Given the description of an element on the screen output the (x, y) to click on. 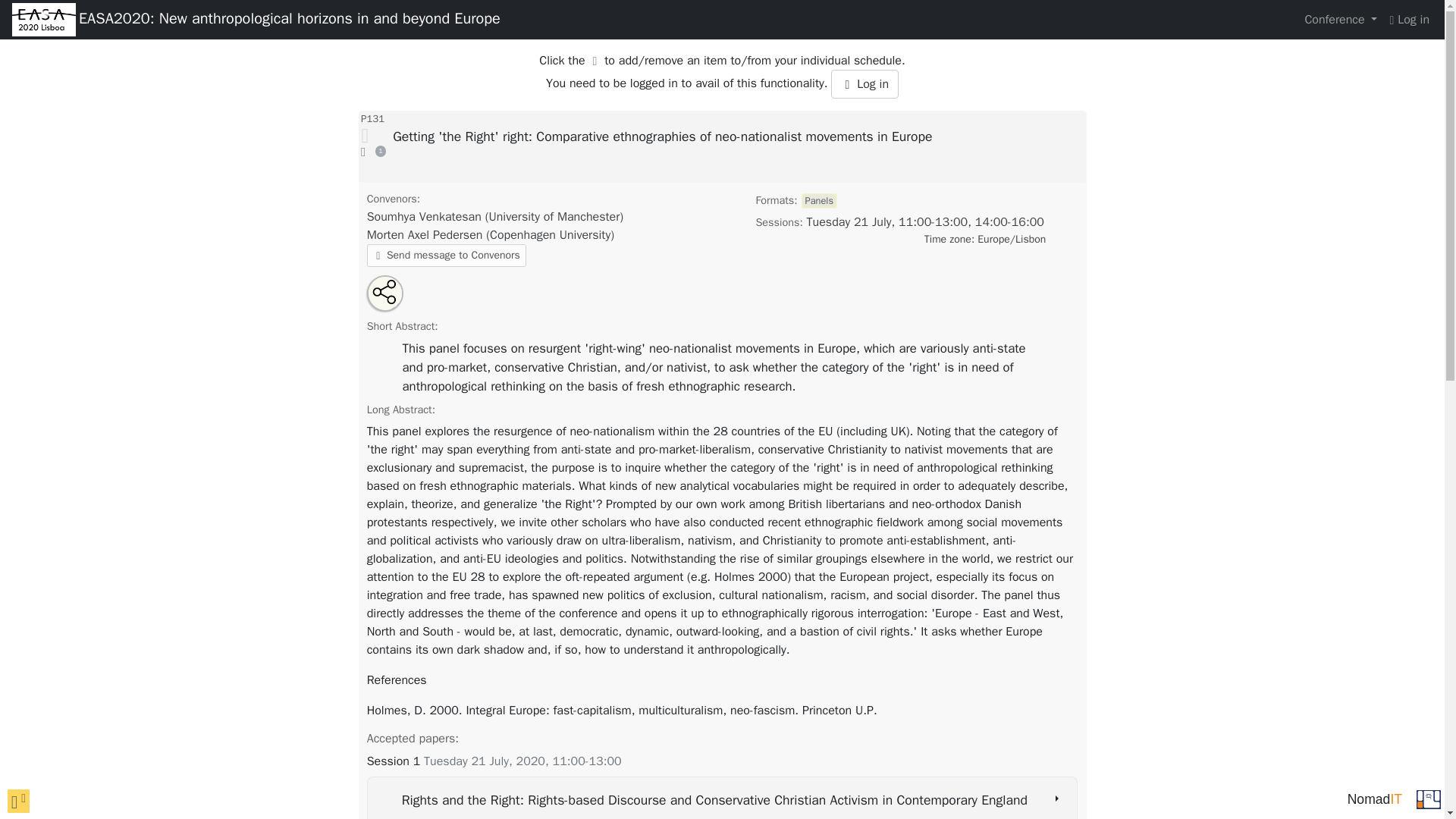
login (1409, 19)
Open an email with this panel link (395, 300)
Log in (864, 83)
Send message to Convenors (445, 255)
NomadIT (1374, 798)
EASA2020: New anthropological horizons in and beyond Europe (289, 19)
Conference (1340, 19)
 Log in (1409, 19)
Share this panel (386, 291)
Convenor (494, 216)
Log in (864, 83)
click to toggle popover (17, 800)
Convenor (490, 234)
